Given the description of an element on the screen output the (x, y) to click on. 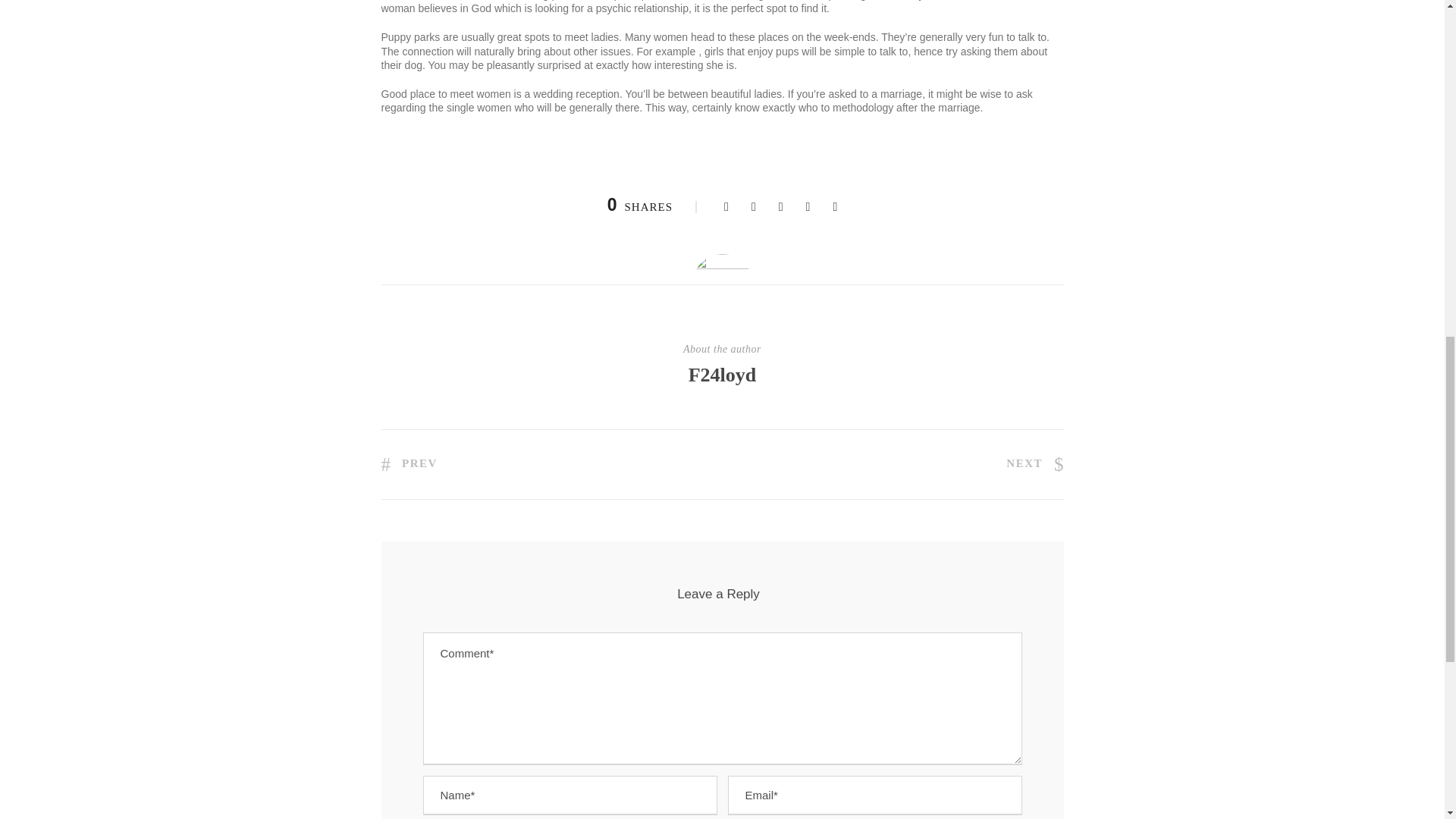
NEXT (1034, 463)
F24loyd (722, 374)
PREV (408, 463)
